Given the description of an element on the screen output the (x, y) to click on. 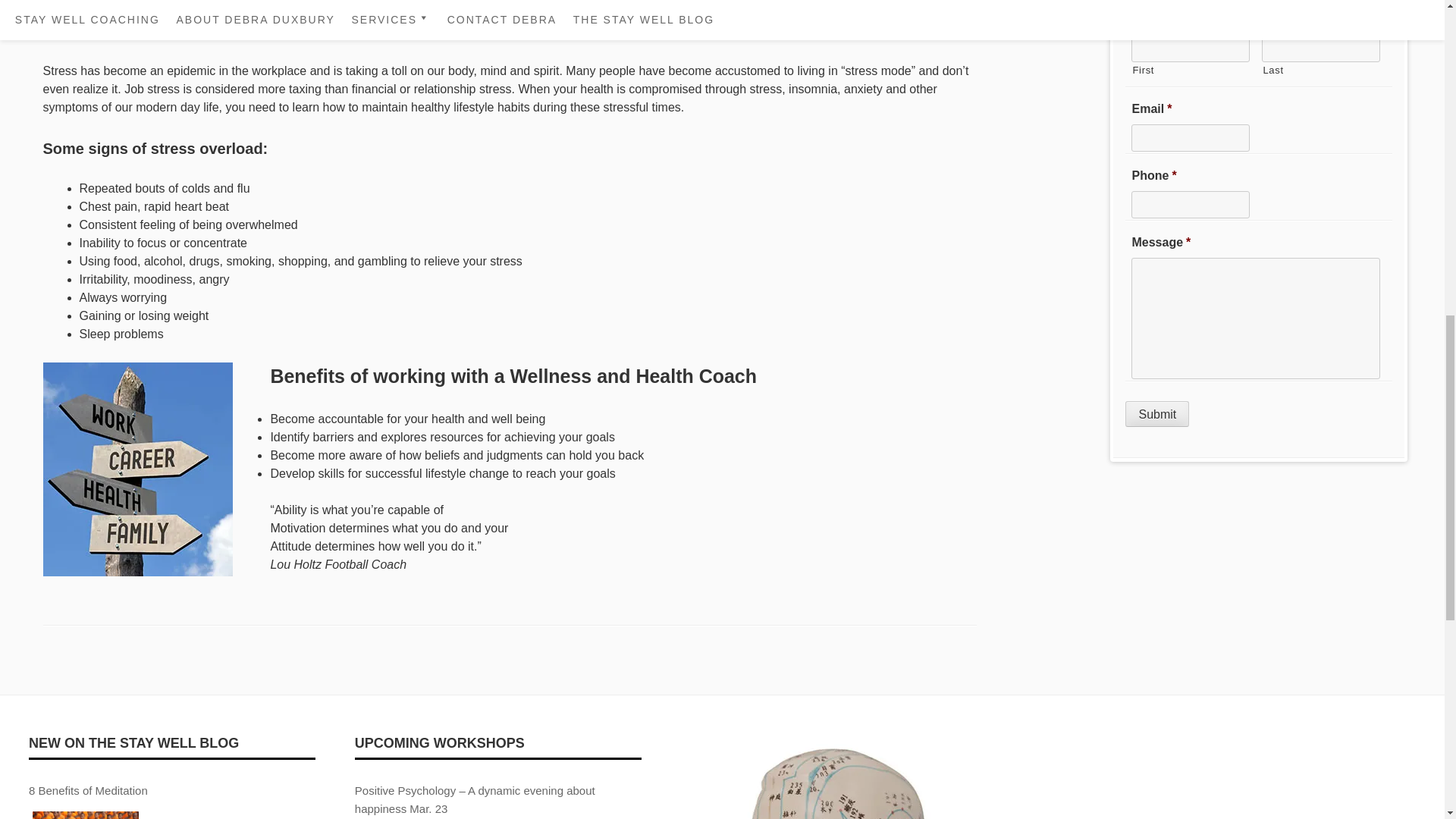
Submit (1157, 413)
8 Benefits of Meditation (85, 813)
8 Benefits of Meditation (88, 789)
Submit (1157, 413)
